Given the description of an element on the screen output the (x, y) to click on. 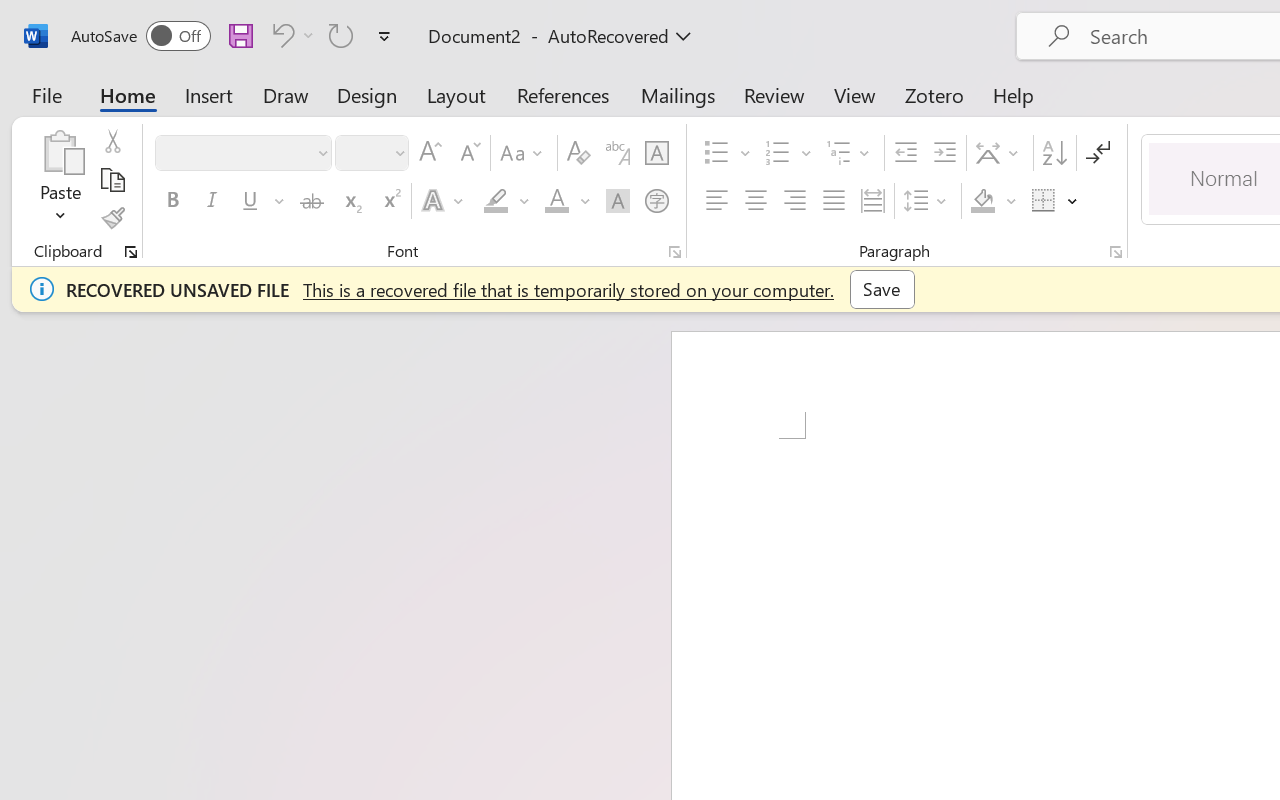
Strikethrough (312, 201)
Format Painter (112, 218)
Align Right (794, 201)
Open (399, 152)
Cut (112, 141)
Font Color (567, 201)
Copy (112, 179)
